Given the description of an element on the screen output the (x, y) to click on. 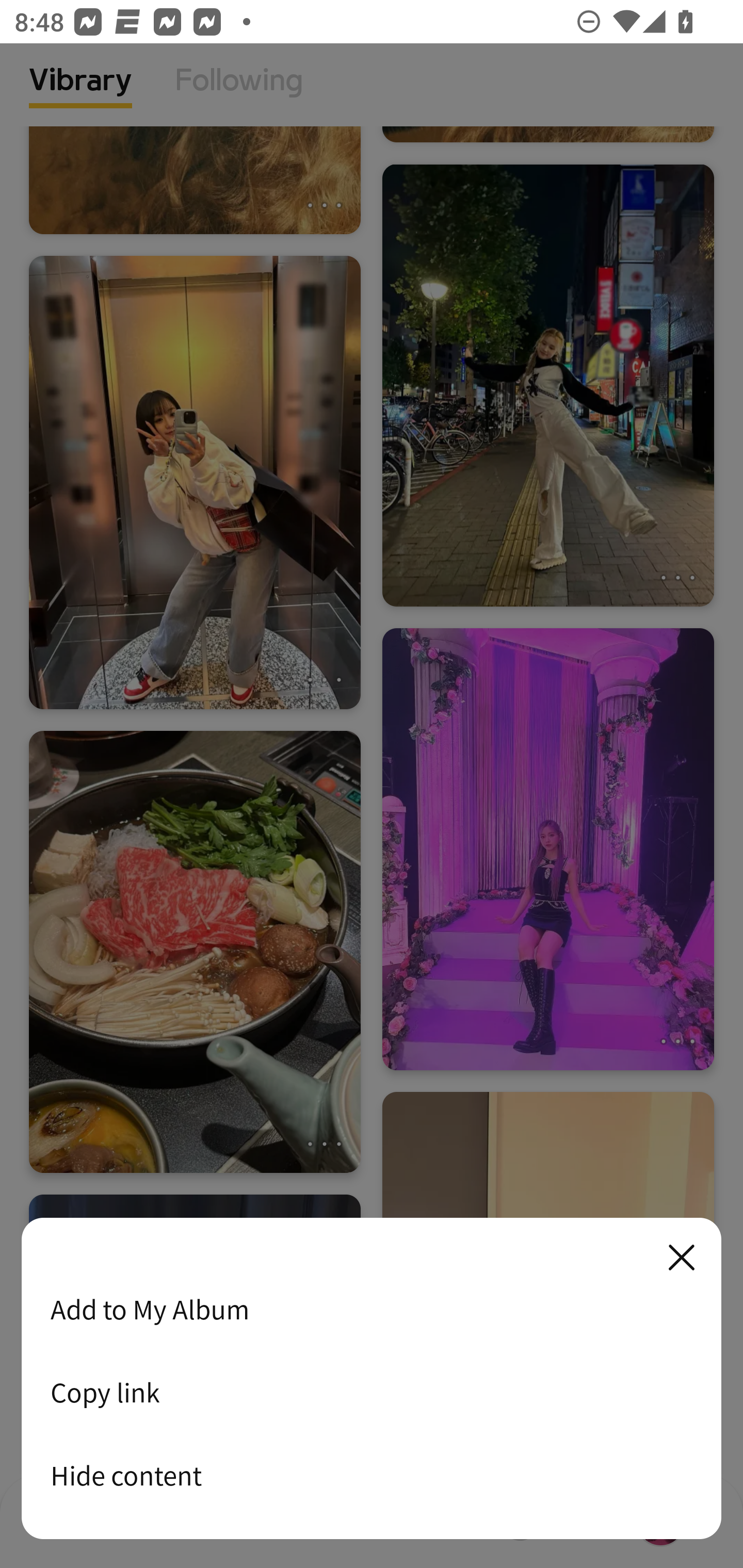
Add to My Album Copy link Hide content (371, 1378)
Add to My Album (371, 1308)
Copy link (371, 1391)
Hide content (371, 1474)
